Given the description of an element on the screen output the (x, y) to click on. 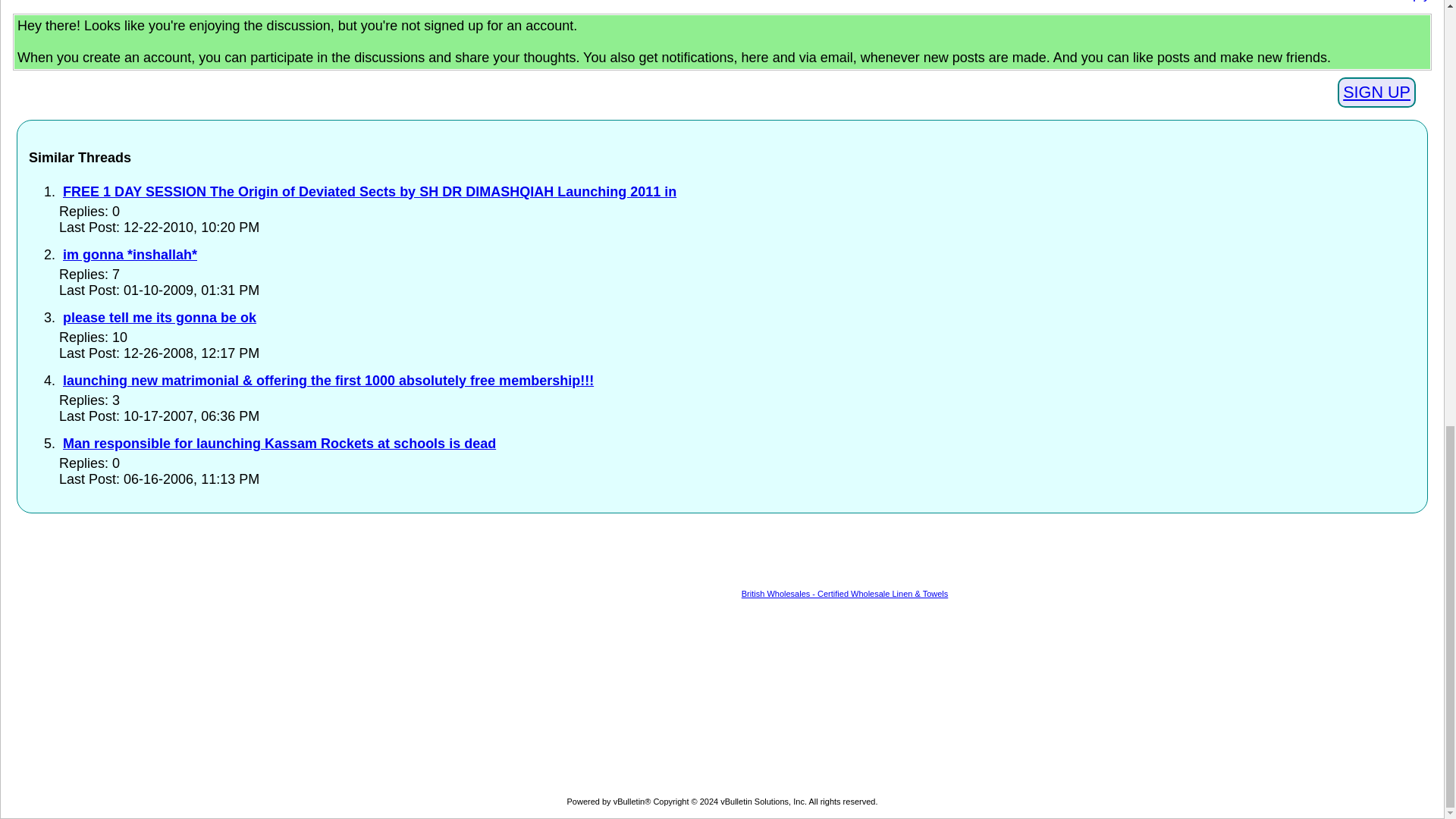
SIGN UP (1376, 91)
3rd party ad content (721, 696)
3rd party ad content (617, 558)
Reply (1411, 1)
please tell me its gonna be ok (159, 317)
